Given the description of an element on the screen output the (x, y) to click on. 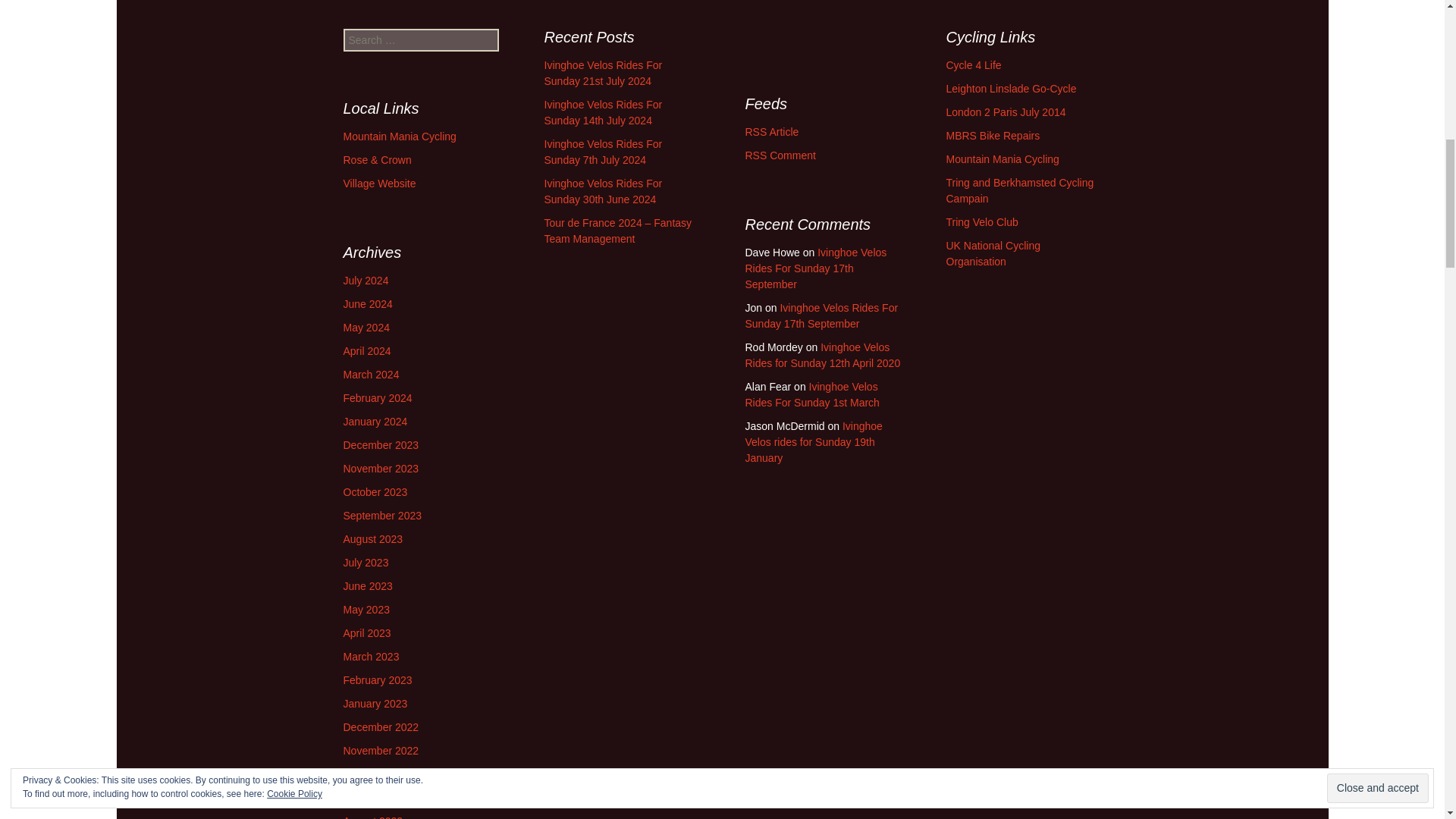
Ivinghoe Velos Rides For Sunday 30th June 2024 (603, 191)
Tring Velo Club (981, 222)
Mountain Mania Cycling (398, 136)
Ivinghoe Velos Rides For Sunday 7th July 2024 (603, 152)
London 2 Paris July 2014 (1005, 111)
Ivinghoe Velos Rides For Sunday 14th July 2024 (603, 112)
MBRS Bike Repairs (993, 135)
RSS Comment (779, 155)
UK National Cycling Organisation (993, 253)
Ivinghoe Velos Rides For Sunday 21st July 2024 (603, 72)
Vinghoe Velos 2014 Challenge! (1005, 111)
Leighton Linslade Go-Cycle (1011, 88)
Leighton Linslade Go-Cycle (1011, 88)
Mobile Bike Repairs (993, 135)
